Given the description of an element on the screen output the (x, y) to click on. 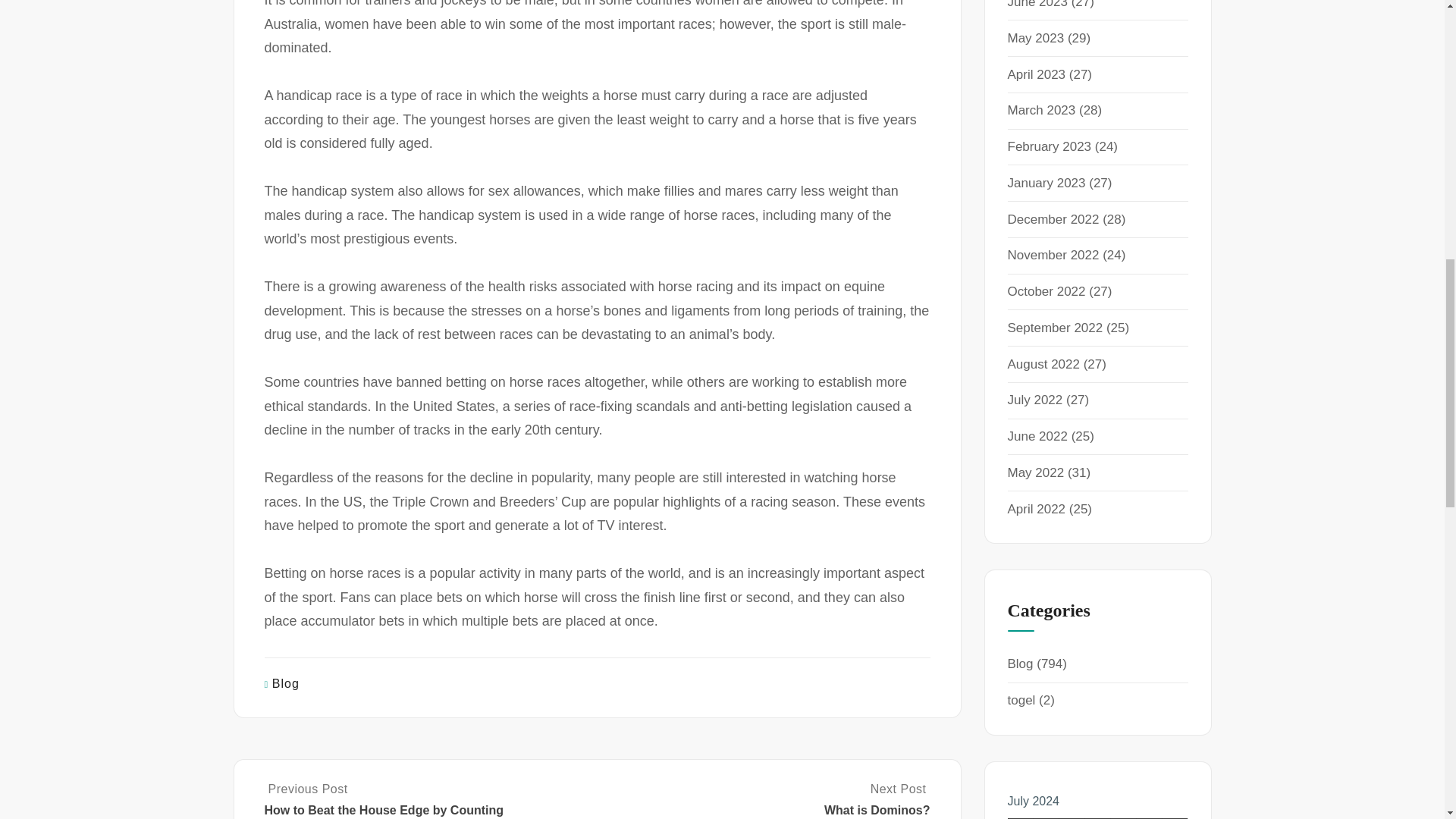
April 2023 (1036, 74)
November 2022 (1053, 255)
February 2023 (1048, 146)
Blog (285, 683)
August 2022 (1042, 364)
December 2022 (1053, 219)
March 2023 (1041, 110)
January 2023 (1045, 183)
October 2022 (1045, 291)
June 2023 (1037, 4)
